Given the description of an element on the screen output the (x, y) to click on. 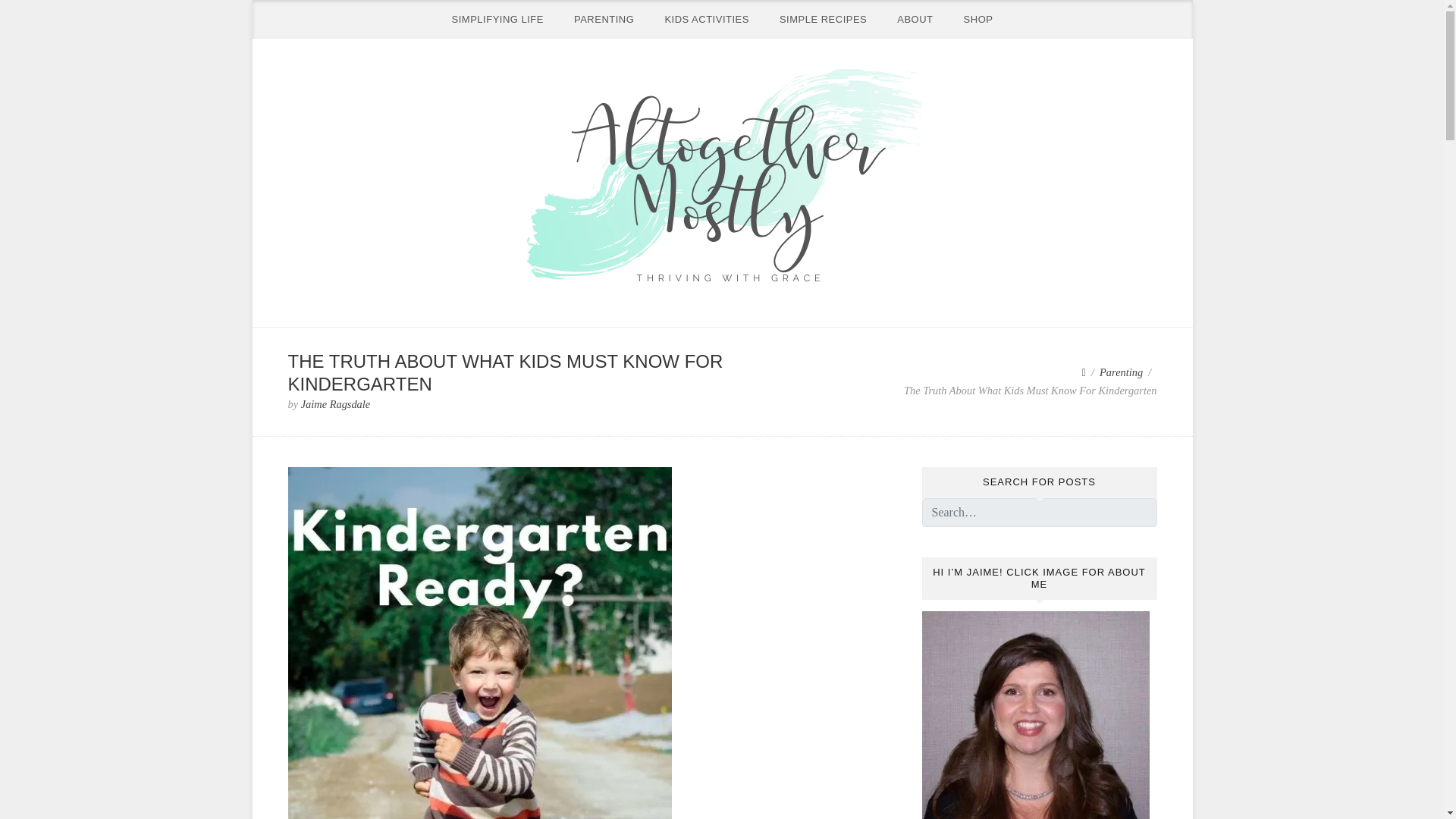
Jaime Ragsdale (336, 404)
ALTOGETHER MOSTLY (424, 315)
SIMPLE RECIPES (823, 19)
ABOUT (914, 19)
PARENTING (604, 19)
SIMPLIFYING LIFE (497, 19)
SHOP (979, 19)
KIDS ACTIVITIES (706, 19)
Parenting (1120, 372)
